Given the description of an element on the screen output the (x, y) to click on. 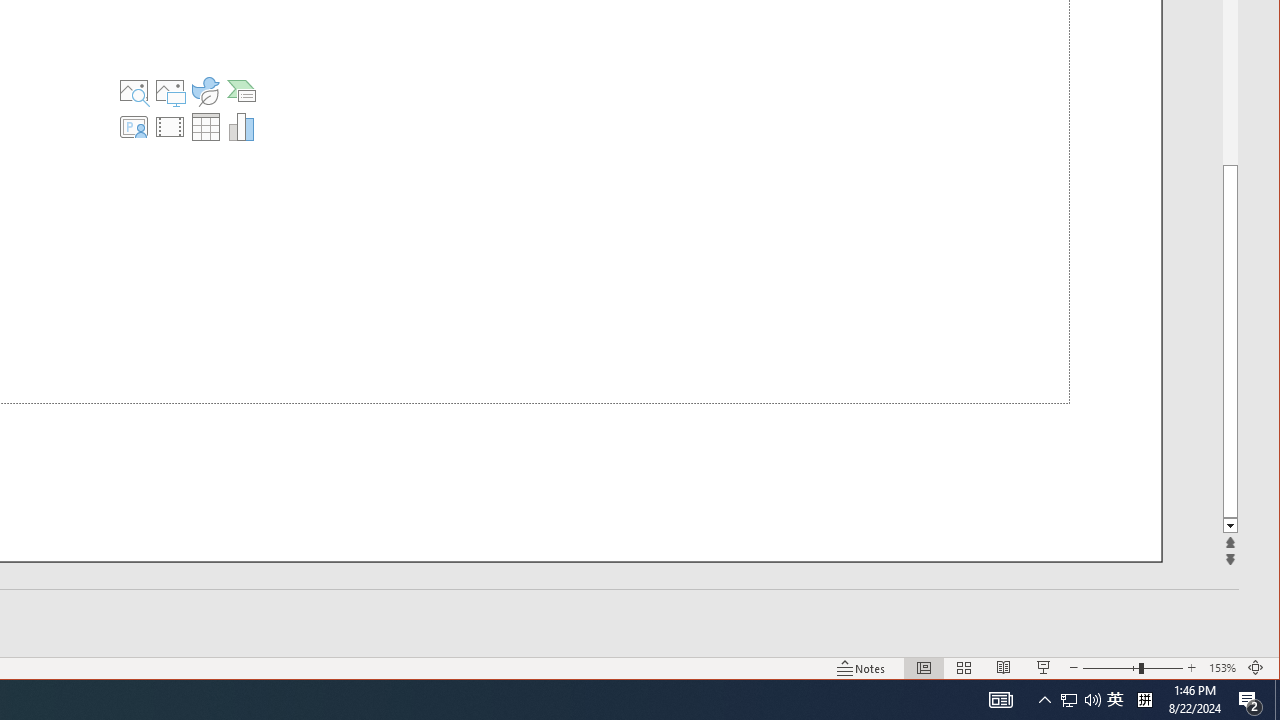
Stock Images (133, 90)
Action Center, 2 new notifications (1250, 699)
User Promoted Notification Area (1080, 699)
Insert Chart (242, 126)
Line down (1230, 525)
Insert Video (169, 126)
Pictures (169, 90)
AutomationID: 4105 (1000, 699)
Insert an Icon (205, 90)
Tray Input Indicator - Chinese (Simplified, China) (1144, 699)
Notification Chevron (1044, 699)
Insert Cameo (133, 126)
